Given the description of an element on the screen output the (x, y) to click on. 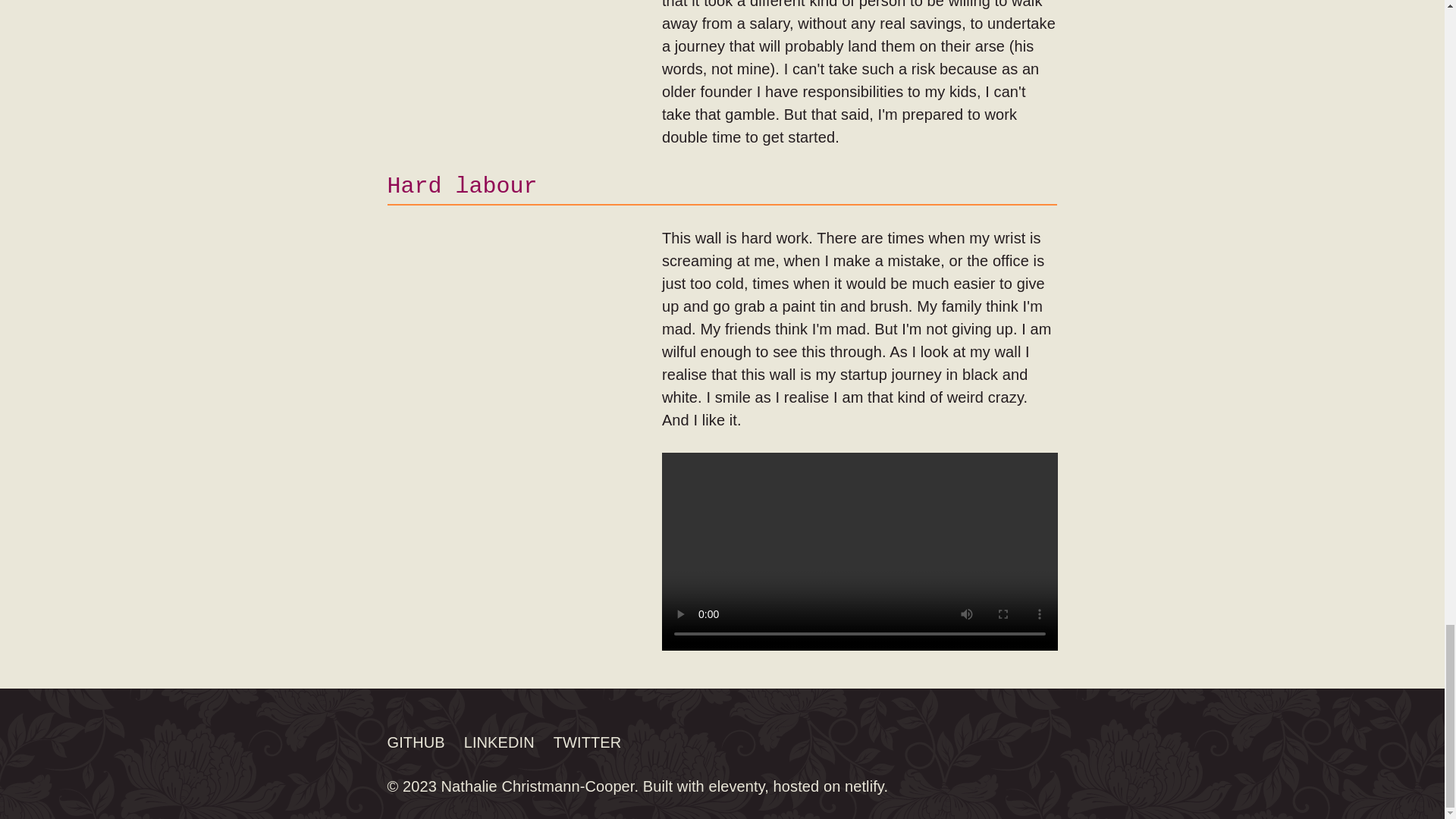
GITHUB (415, 742)
LINKEDIN (499, 742)
TWITTER (587, 742)
